Given the description of an element on the screen output the (x, y) to click on. 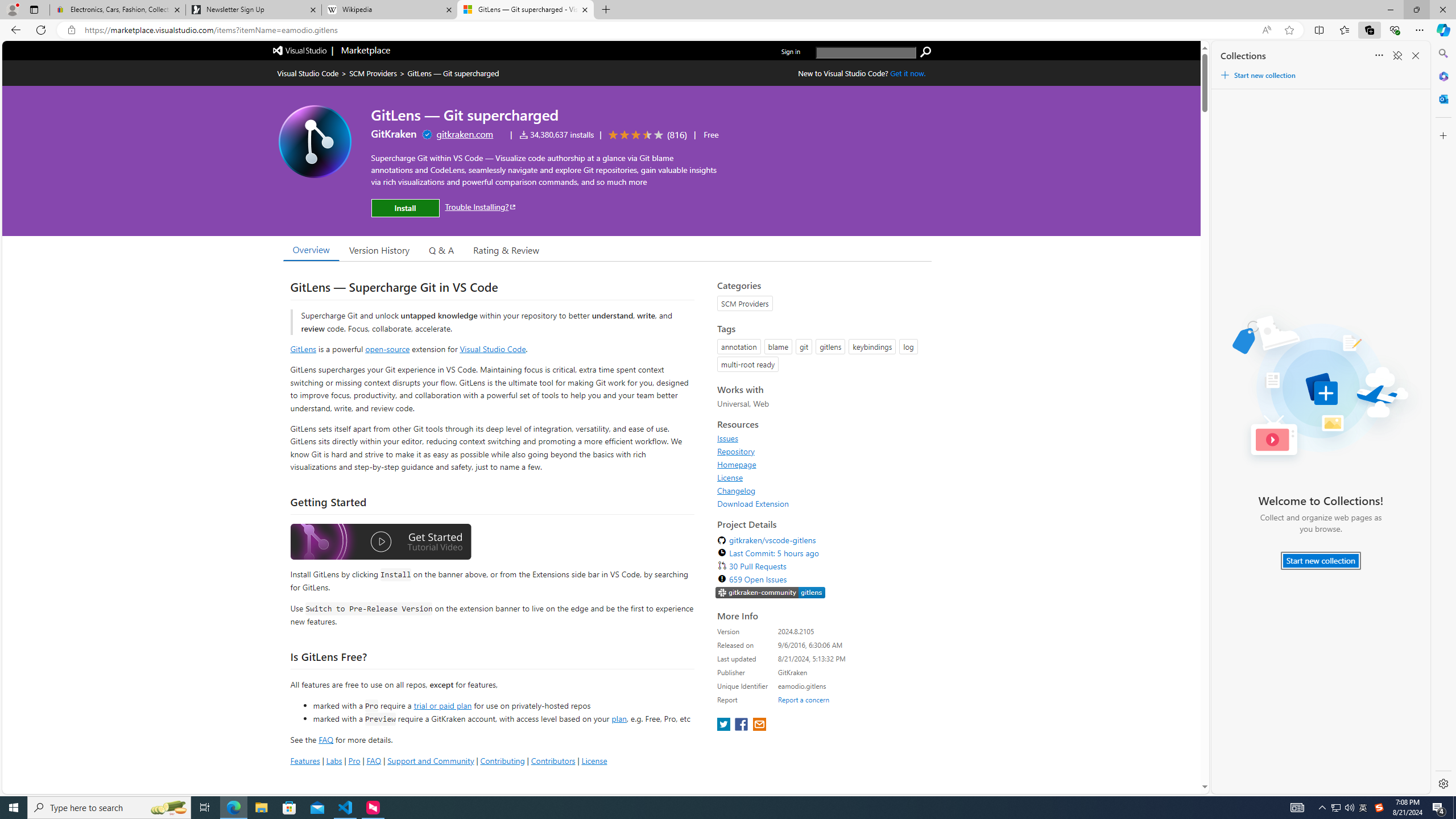
plan (618, 718)
Report a concern (803, 699)
share extension on twitter (724, 725)
gitkraken.com (464, 133)
Watch the GitLens Getting Started video (380, 542)
Issues (727, 437)
Start new collection (1321, 560)
